Given the description of an element on the screen output the (x, y) to click on. 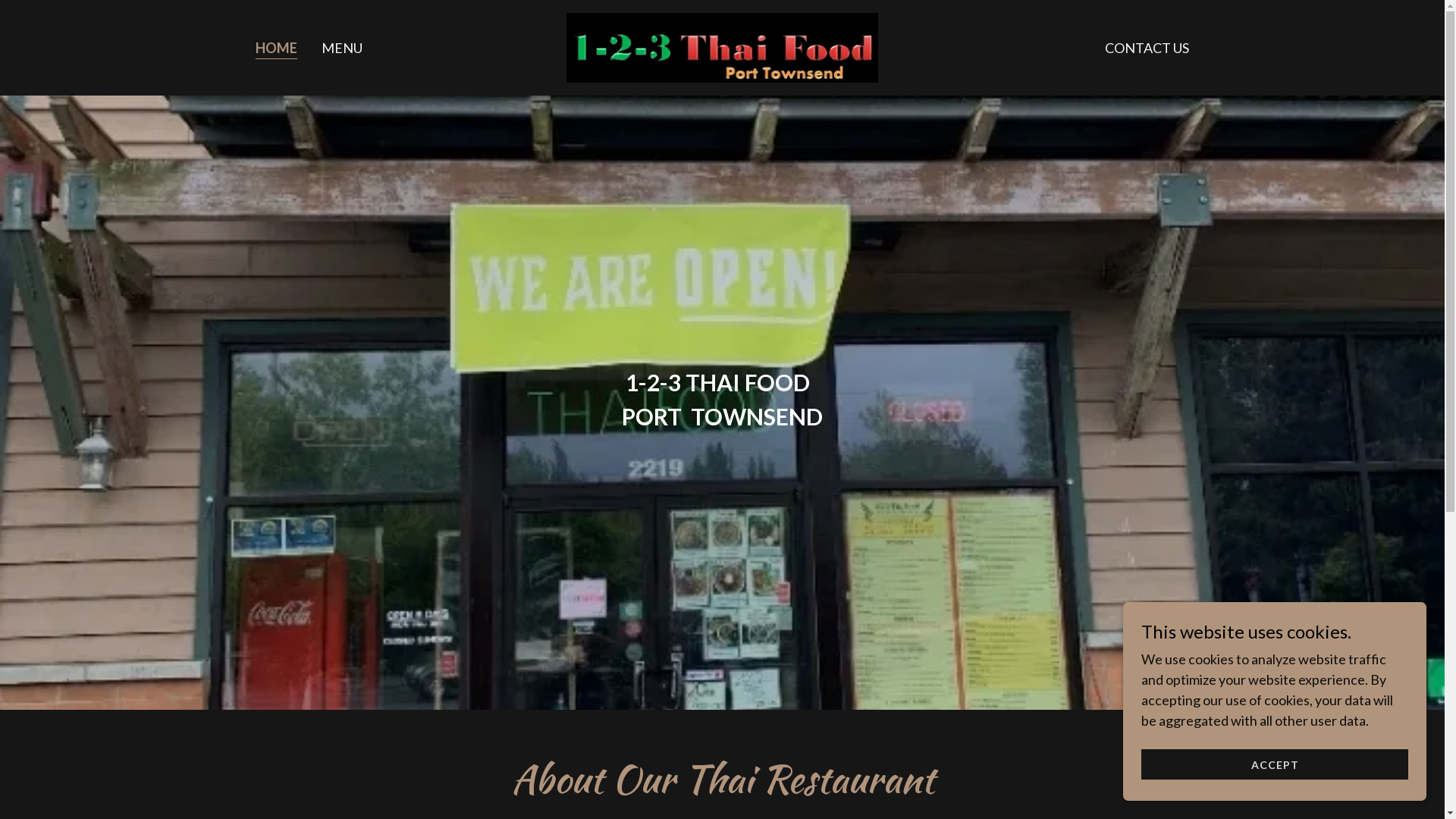
CONTACT US Element type: text (1146, 47)
ACCEPT Element type: text (1274, 764)
HOME Element type: text (275, 48)
MENU Element type: text (341, 47)
1-2-3 ThaiFood   Port Townsend Element type: hover (722, 45)
